Given the description of an element on the screen output the (x, y) to click on. 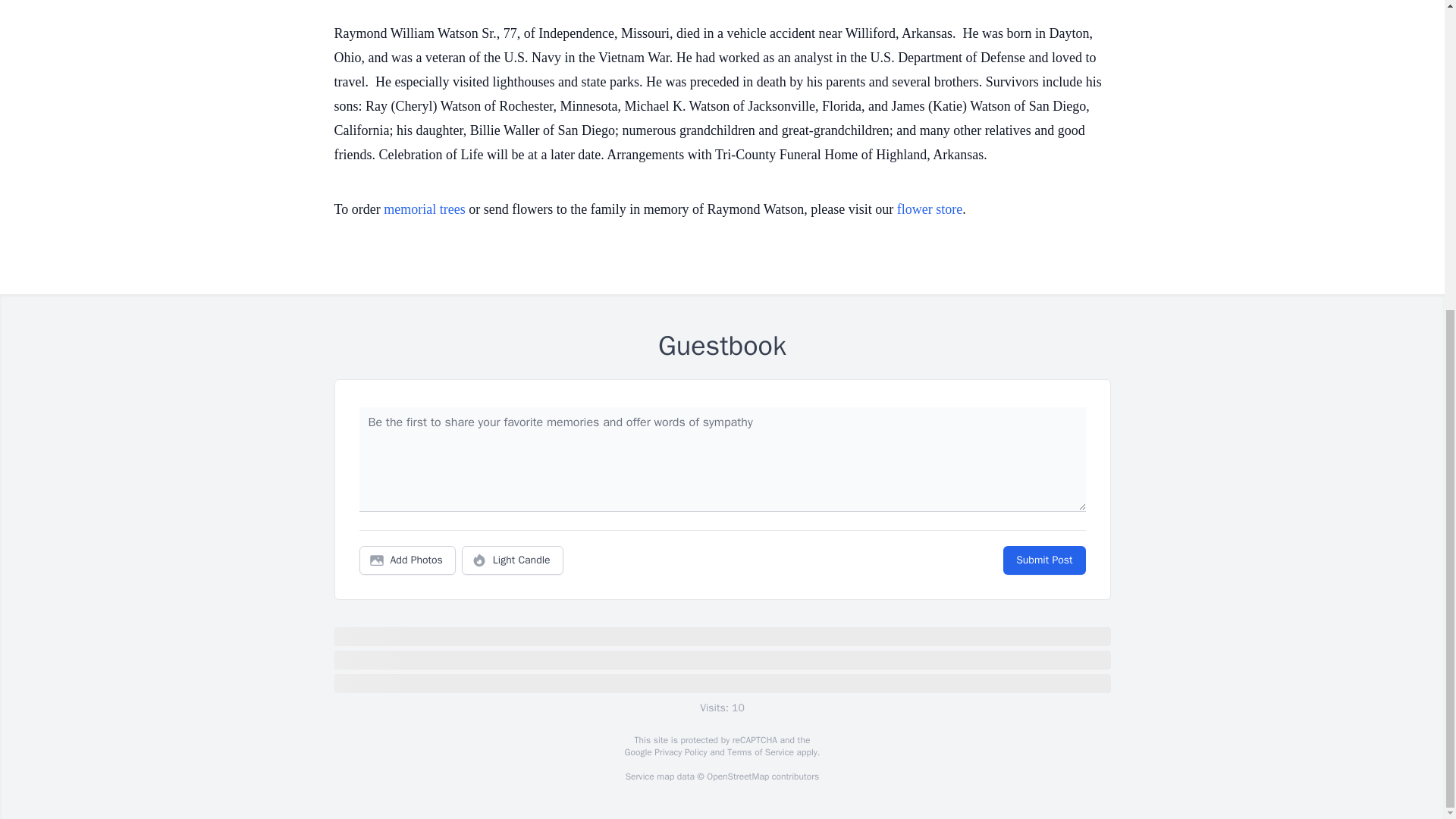
Privacy Policy (679, 752)
Light Candle (512, 560)
flower store (929, 209)
OpenStreetMap (737, 776)
memorial trees (424, 209)
Submit Post (1043, 560)
Terms of Service (759, 752)
Add Photos (407, 560)
